Given the description of an element on the screen output the (x, y) to click on. 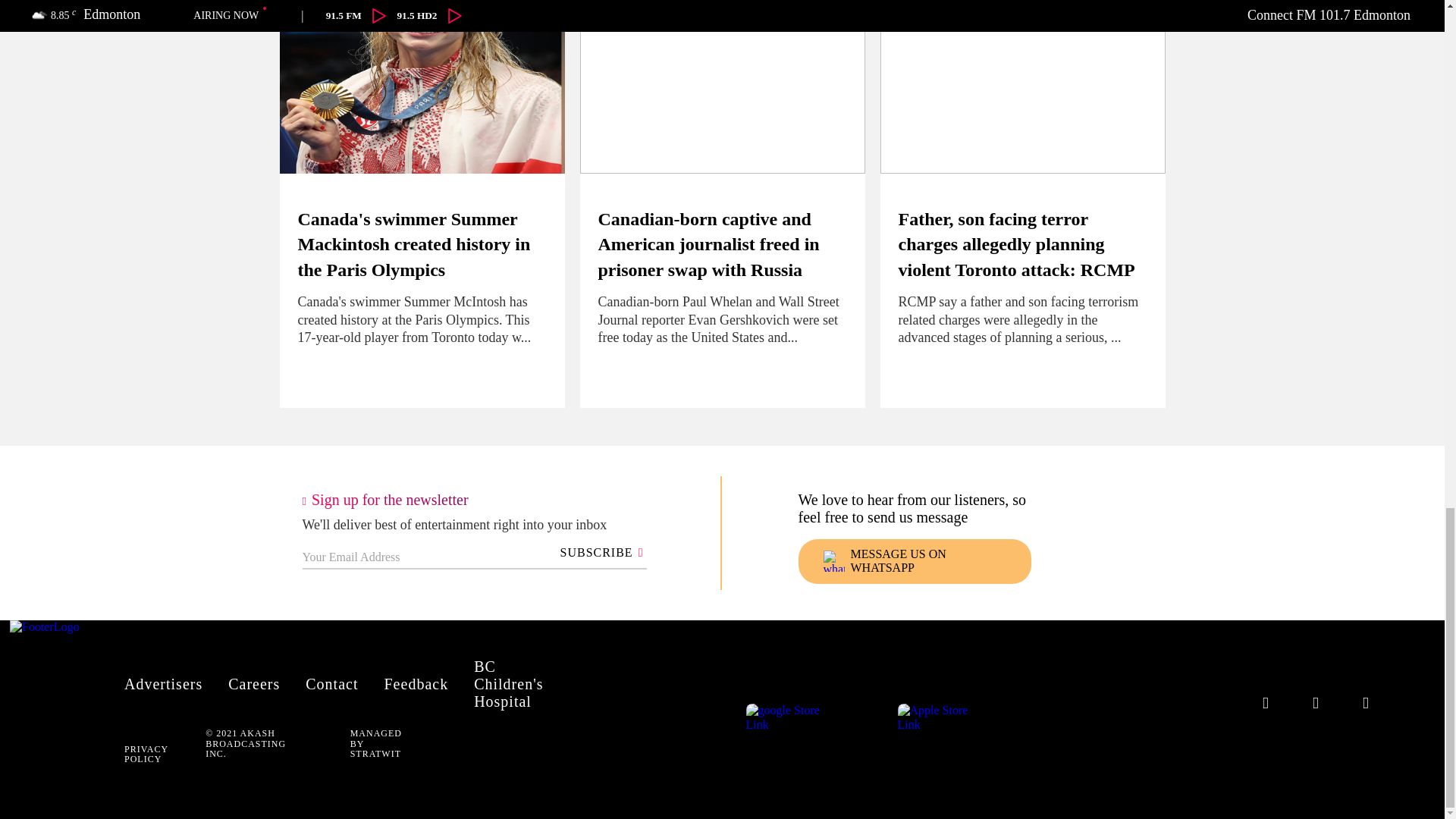
SUBSCRIBE (599, 552)
